Given the description of an element on the screen output the (x, y) to click on. 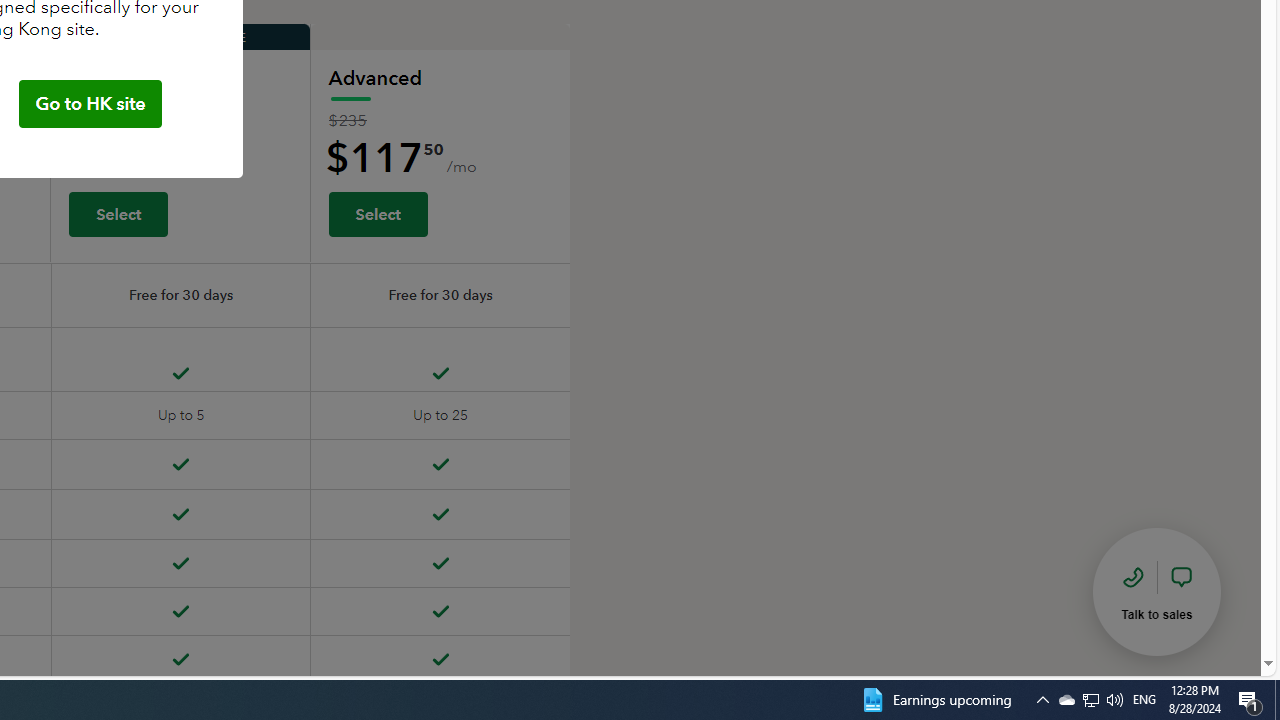
Select plus (118, 213)
talk to sales (1157, 591)
Go to HK site (90, 103)
Select advanced (377, 213)
